Given the description of an element on the screen output the (x, y) to click on. 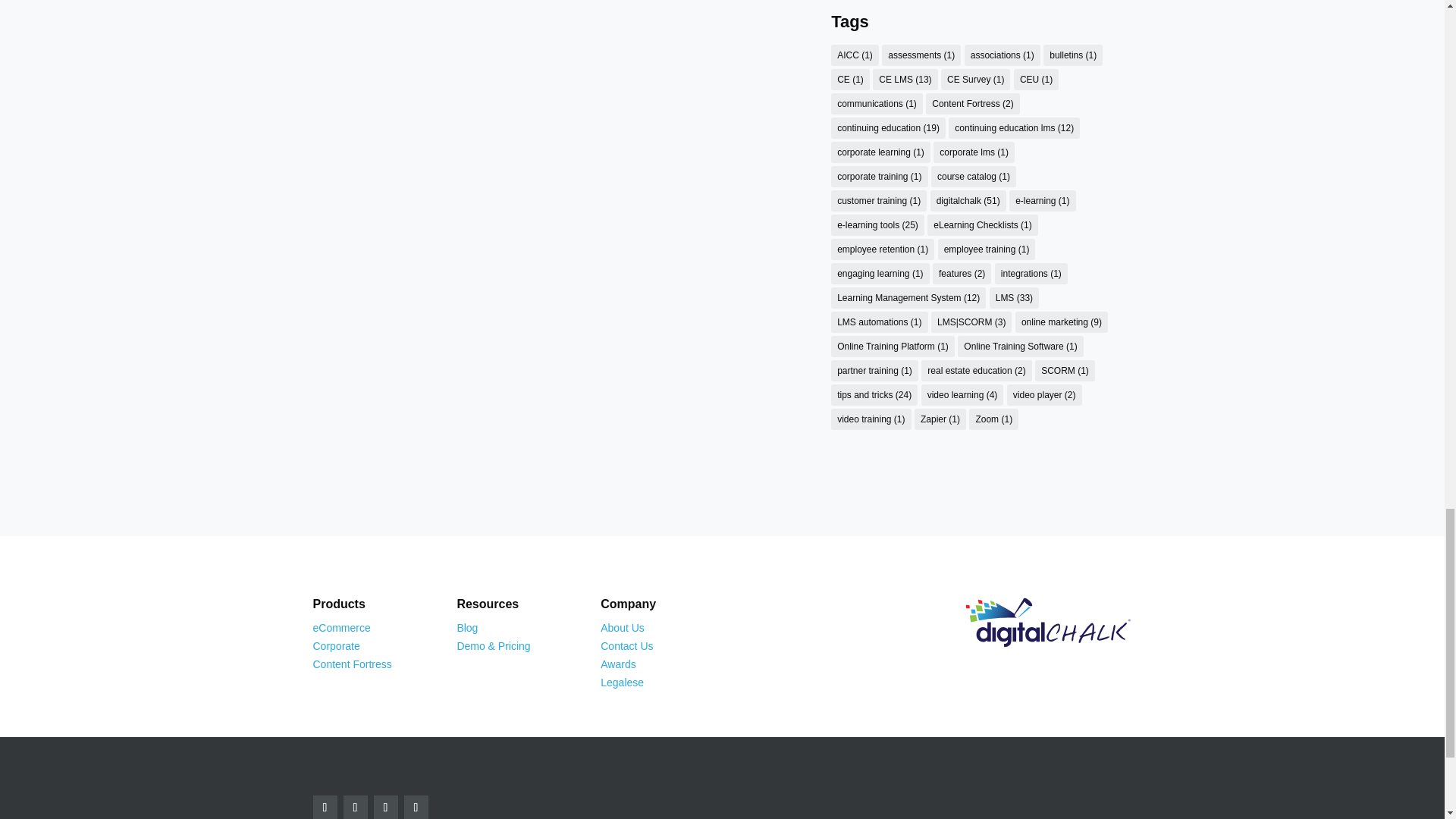
About the DigitalChalk company (622, 627)
Follow on Youtube (354, 807)
Follow on X (384, 807)
DigitalChalk Continuing Ed product info (341, 627)
All the ways to contact the DigitalChalk team (625, 645)
Content Fortress product Info (352, 664)
digitalchalk (1048, 622)
DigitalChalk for Corporate LMS (336, 645)
Follow on LinkedIn (415, 807)
Follow on Facebook (324, 807)
